Given the description of an element on the screen output the (x, y) to click on. 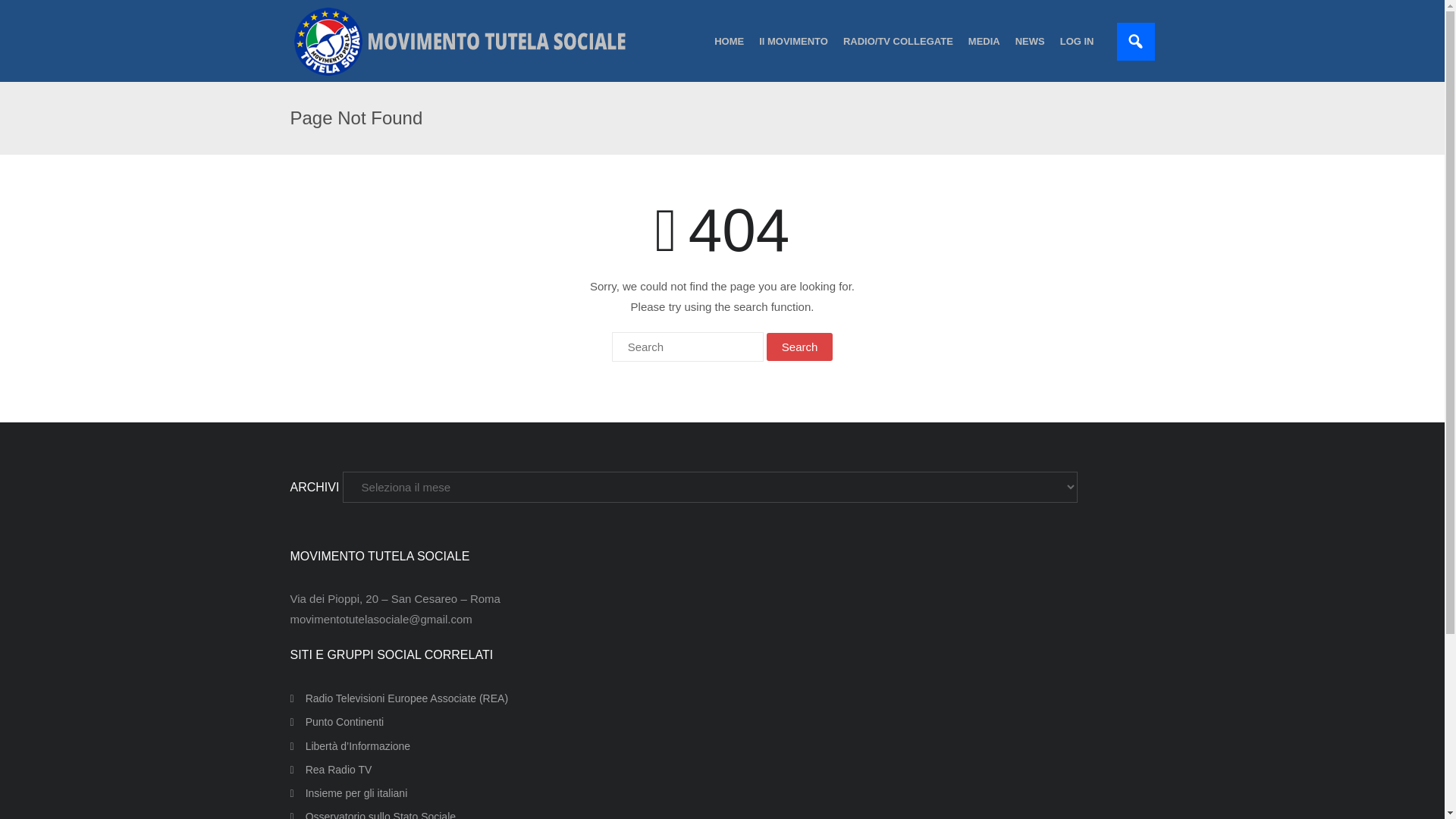
Search (799, 346)
Osservatorio sullo Stato Sociale (372, 812)
Rea Radio TV (330, 770)
Punto Continenti (336, 721)
Il MOVIMENTO (793, 40)
Insieme per gli italiani (348, 792)
Search (799, 346)
Search (799, 346)
Search (29, 12)
